Given the description of an element on the screen output the (x, y) to click on. 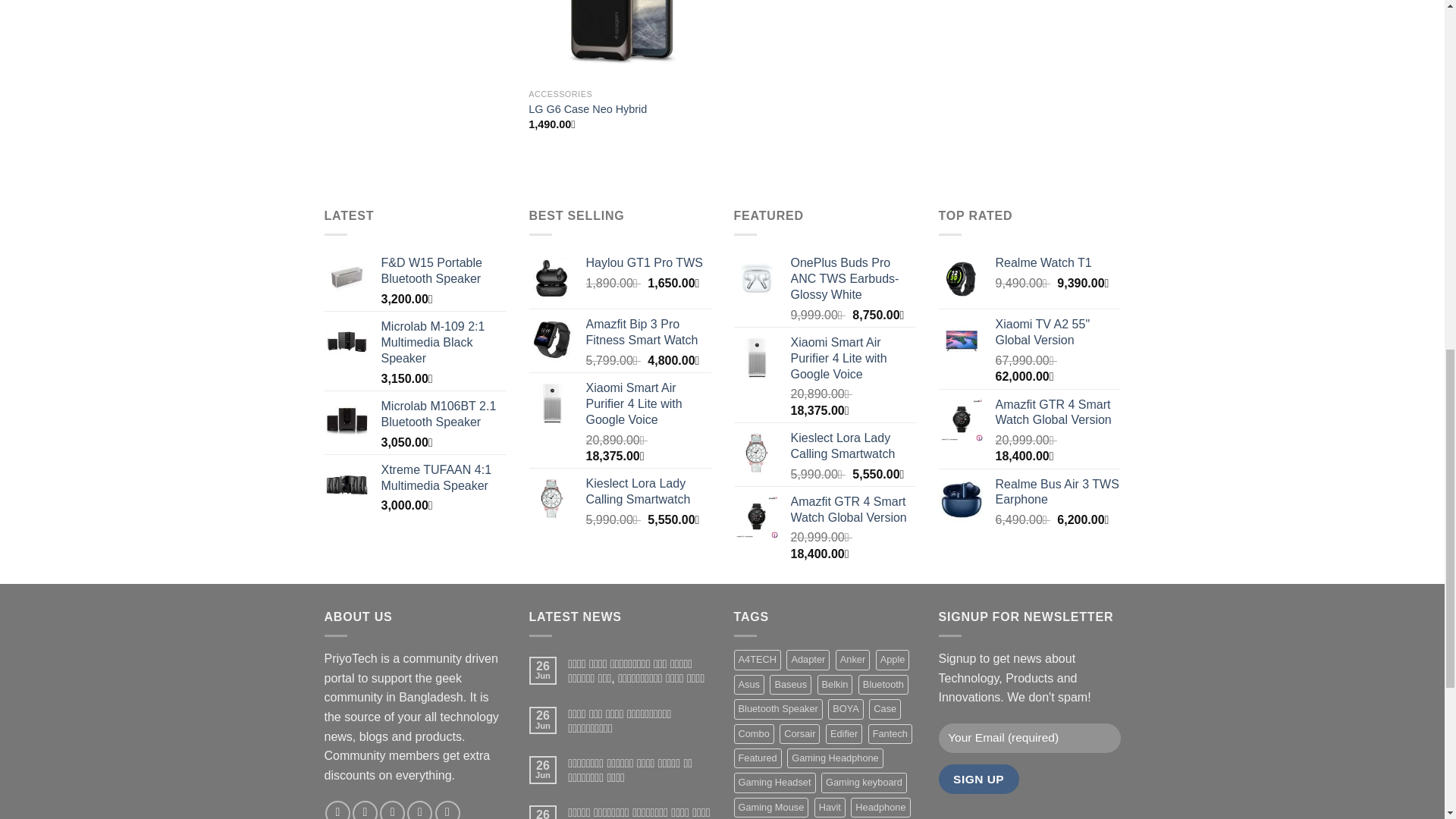
Sign Up (979, 778)
Follow on Facebook (337, 809)
Follow on LinkedIn (447, 809)
Follow on Instagram (364, 809)
Send us an email (419, 809)
Follow on Twitter (392, 809)
